Given the description of an element on the screen output the (x, y) to click on. 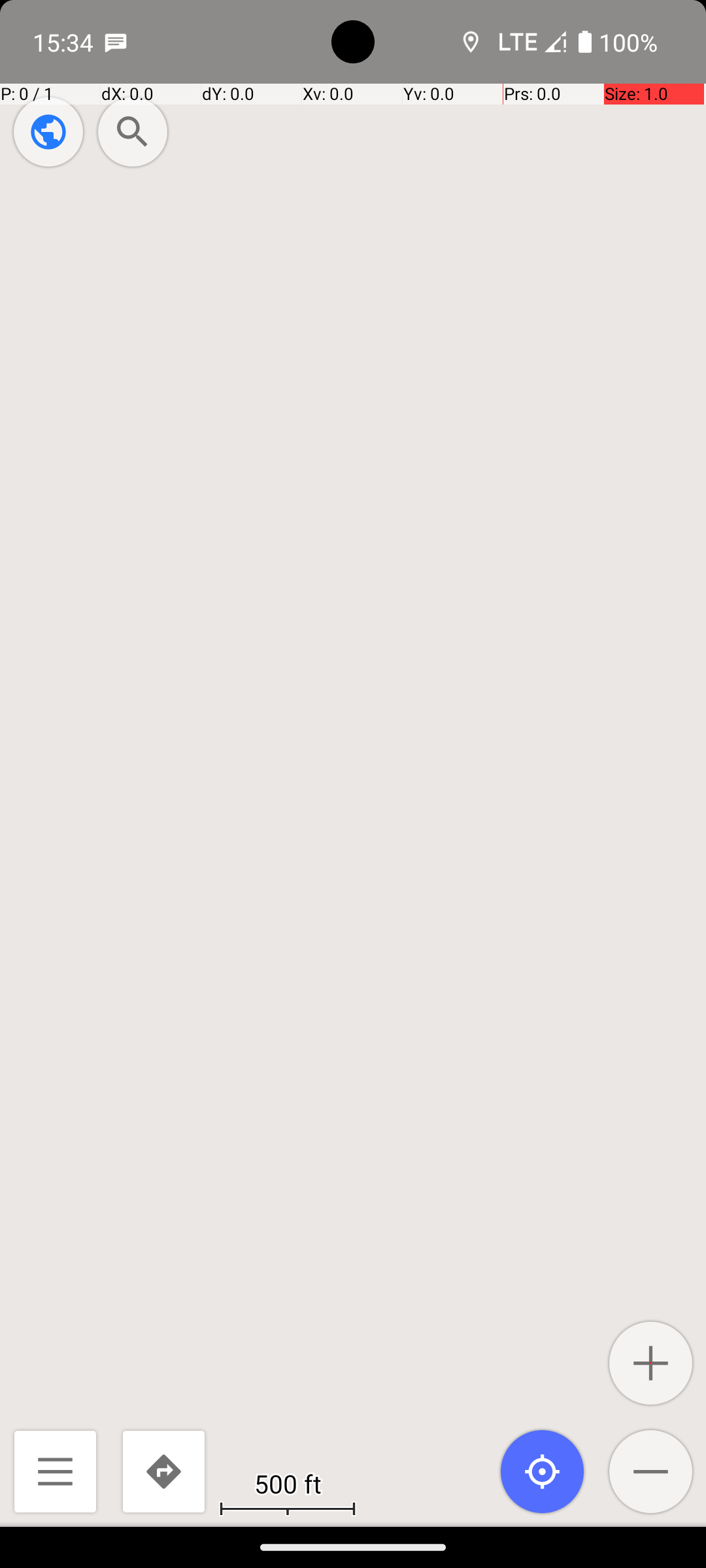
500 ft Element type: android.widget.TextView (287, 1483)
Where am I Element type: android.widget.ImageButton (542, 1471)
